Given the description of an element on the screen output the (x, y) to click on. 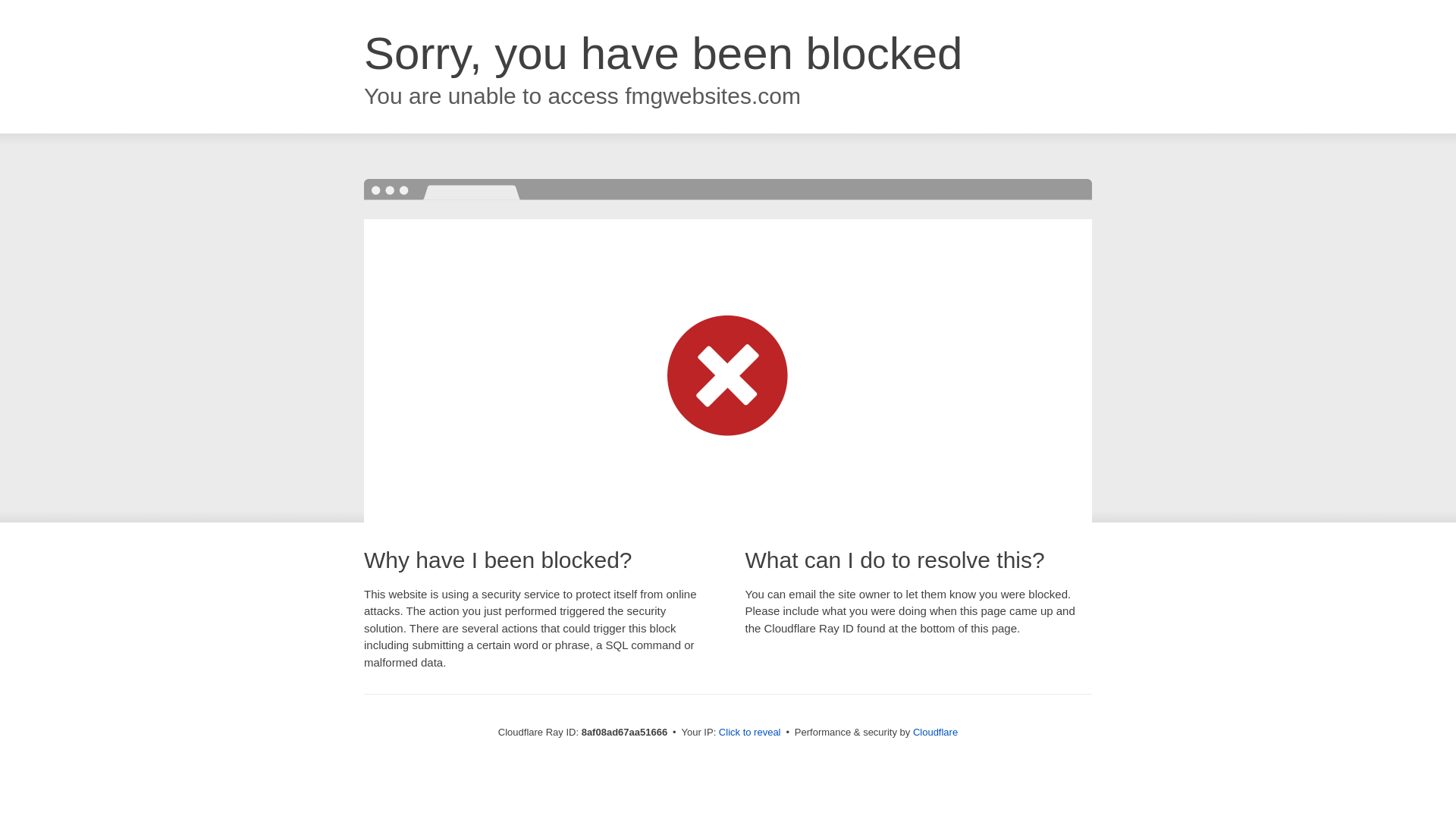
Click to reveal (749, 732)
Cloudflare (935, 731)
